Given the description of an element on the screen output the (x, y) to click on. 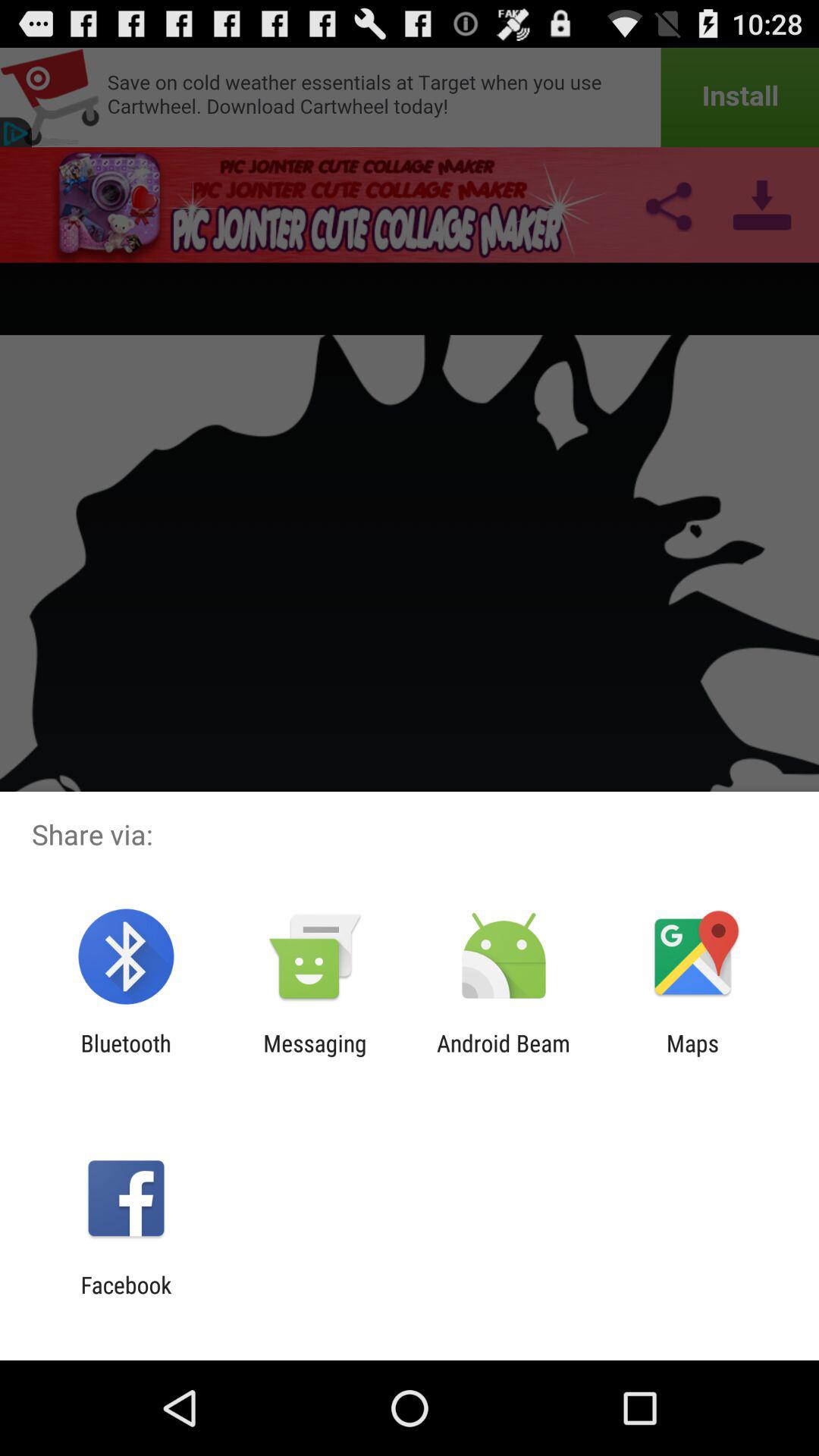
swipe until the messaging app (314, 1056)
